Given the description of an element on the screen output the (x, y) to click on. 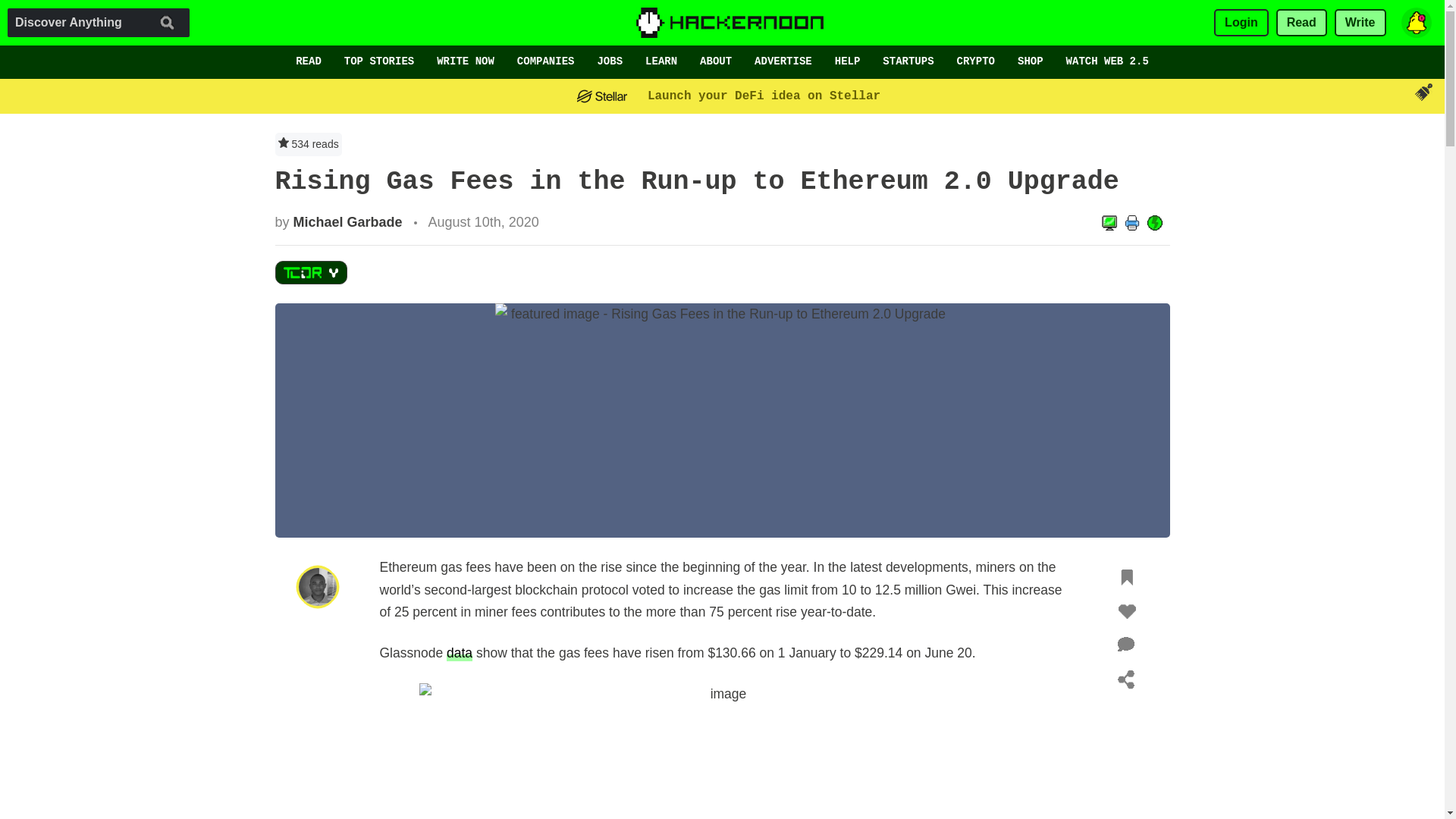
Login (1241, 22)
Read (1301, 22)
Write (1360, 22)
